Given the description of an element on the screen output the (x, y) to click on. 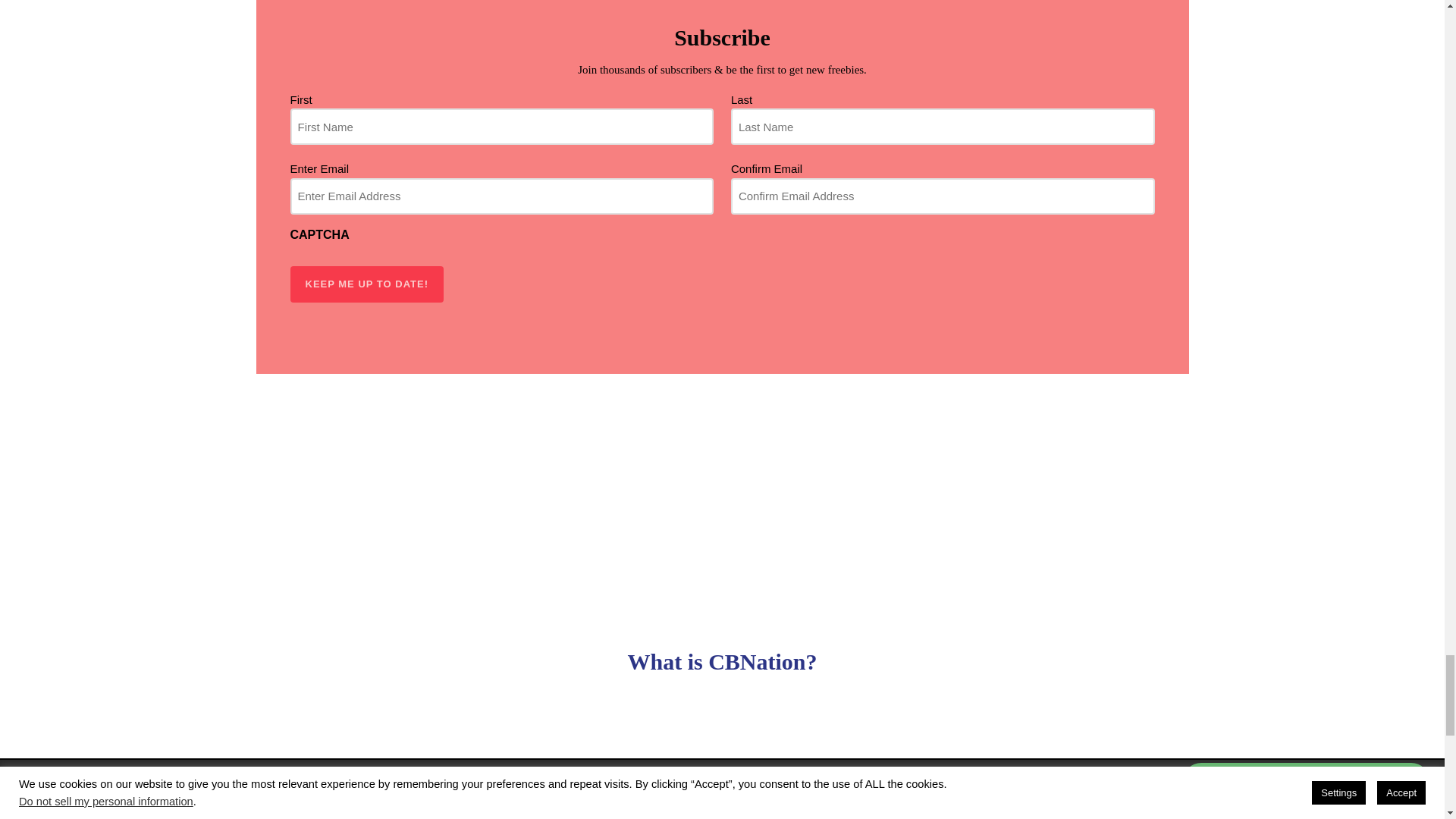
Keep me up to date! (366, 284)
